Given the description of an element on the screen output the (x, y) to click on. 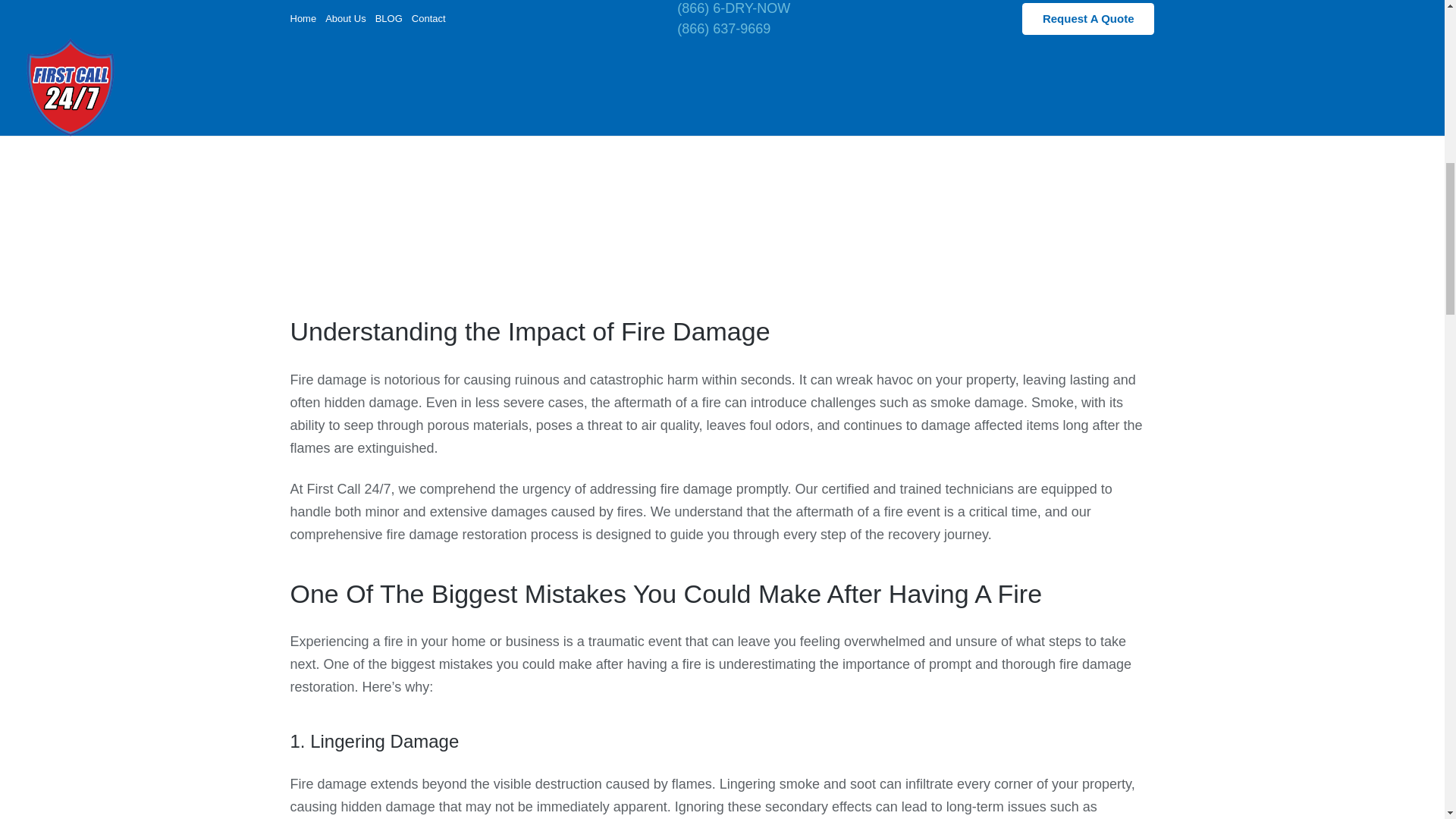
Back to top (1413, 22)
